Given the description of an element on the screen output the (x, y) to click on. 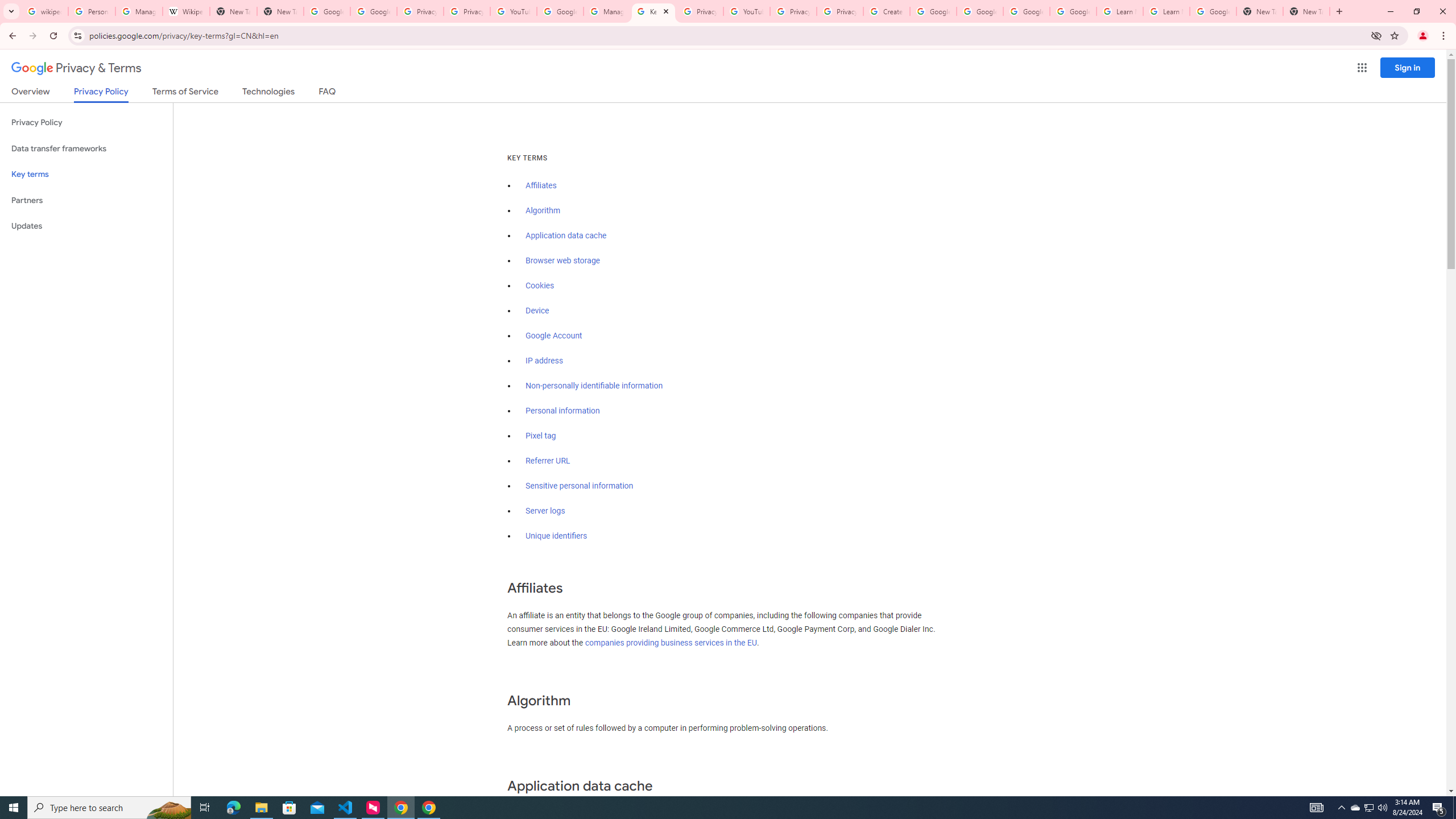
Google Account (1213, 11)
Sign in (1407, 67)
Wikipedia:Edit requests - Wikipedia (186, 11)
Cookies (539, 285)
Technologies (268, 93)
Privacy & Terms (76, 68)
FAQ (327, 93)
Device (536, 311)
Non-personally identifiable information (593, 385)
Application data cache (566, 235)
Google Drive: Sign-in (373, 11)
